Given the description of an element on the screen output the (x, y) to click on. 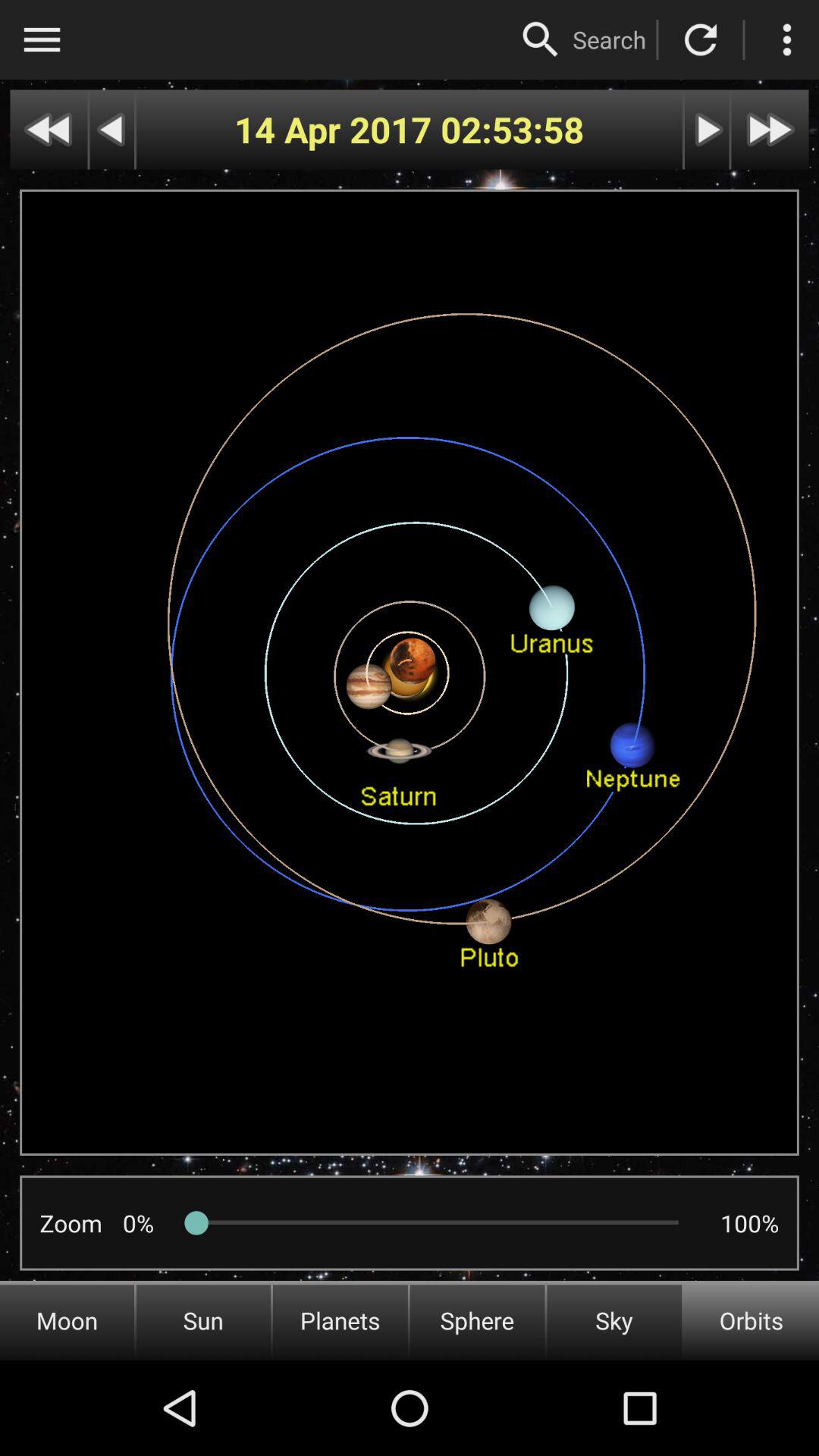
press the app next to search (540, 39)
